Given the description of an element on the screen output the (x, y) to click on. 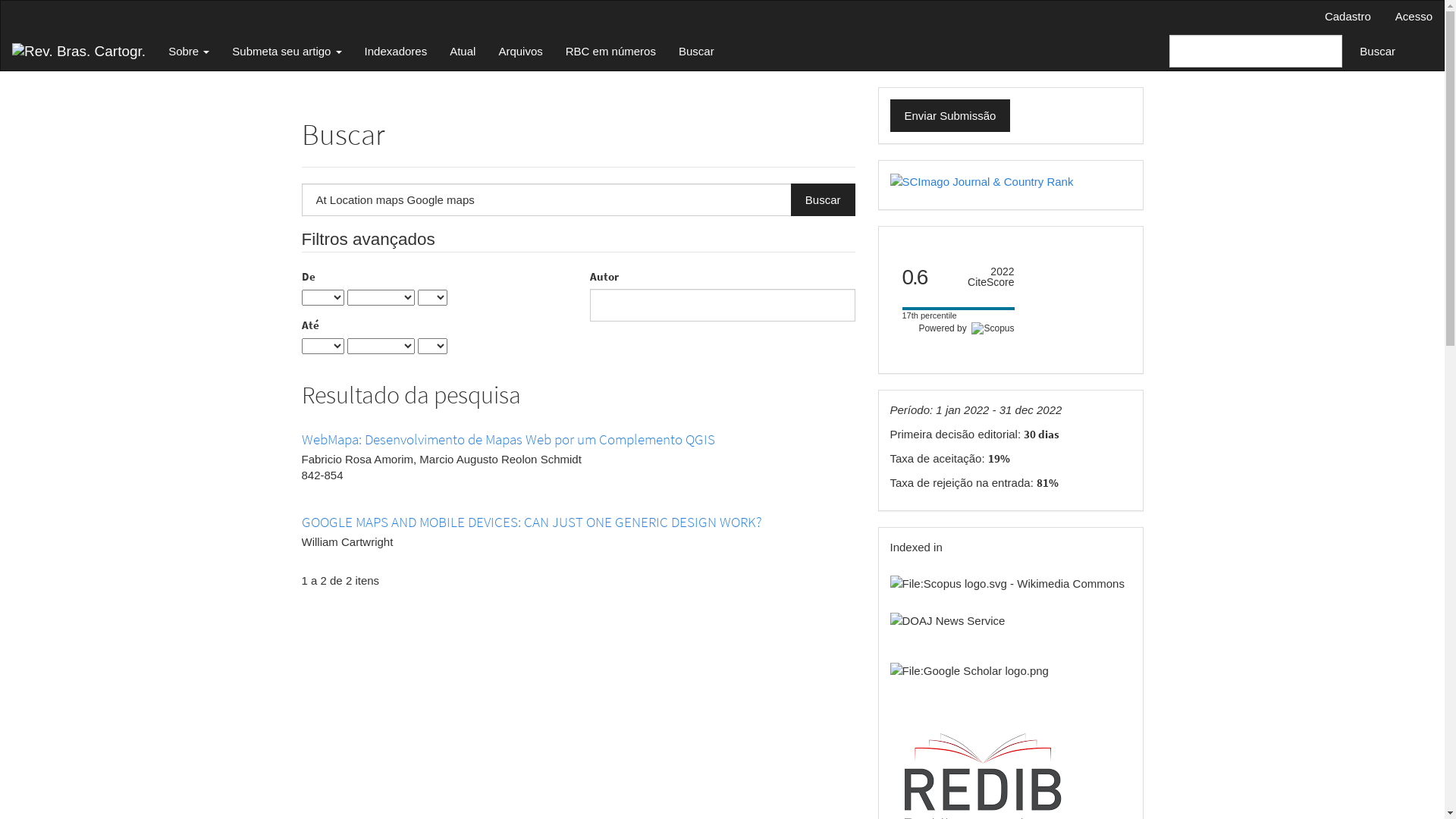
SCImago Journal & Country Rank Element type: hover (981, 179)
Buscar Element type: text (696, 50)
Buscar Element type: text (822, 199)
Submeta seu artigo Element type: text (286, 50)
Buscar Element type: text (1377, 50)
Atual Element type: text (462, 50)
Arquivos Element type: text (519, 50)
Acesso Element type: text (1413, 15)
Sobre Element type: text (188, 50)
Cadastro Element type: text (1347, 15)
Indexadores Element type: text (396, 50)
